Given the description of an element on the screen output the (x, y) to click on. 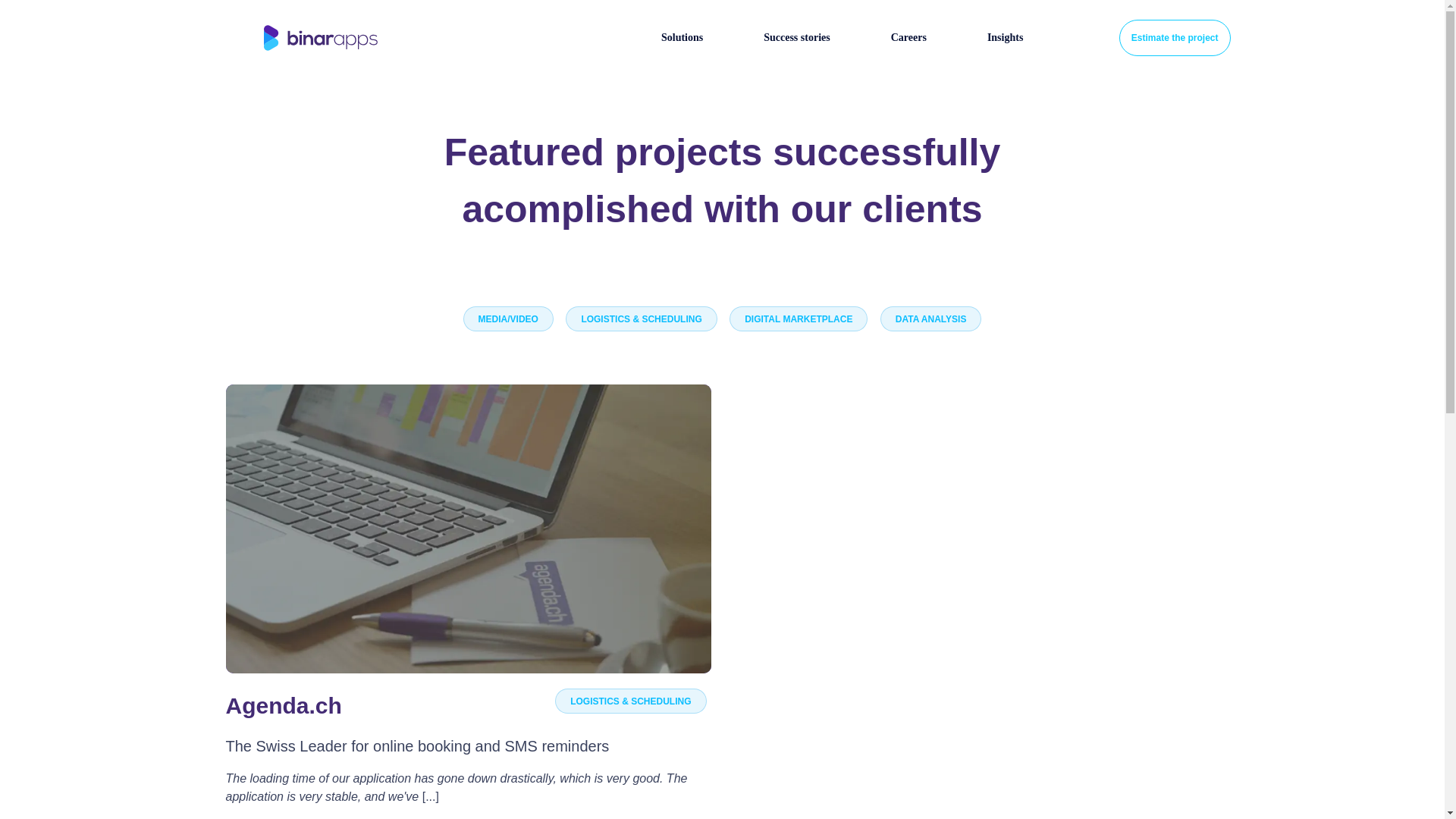
Insights (1005, 37)
Estimate the project (1174, 37)
Solutions (682, 37)
Careers (908, 37)
Success stories (795, 37)
